Given the description of an element on the screen output the (x, y) to click on. 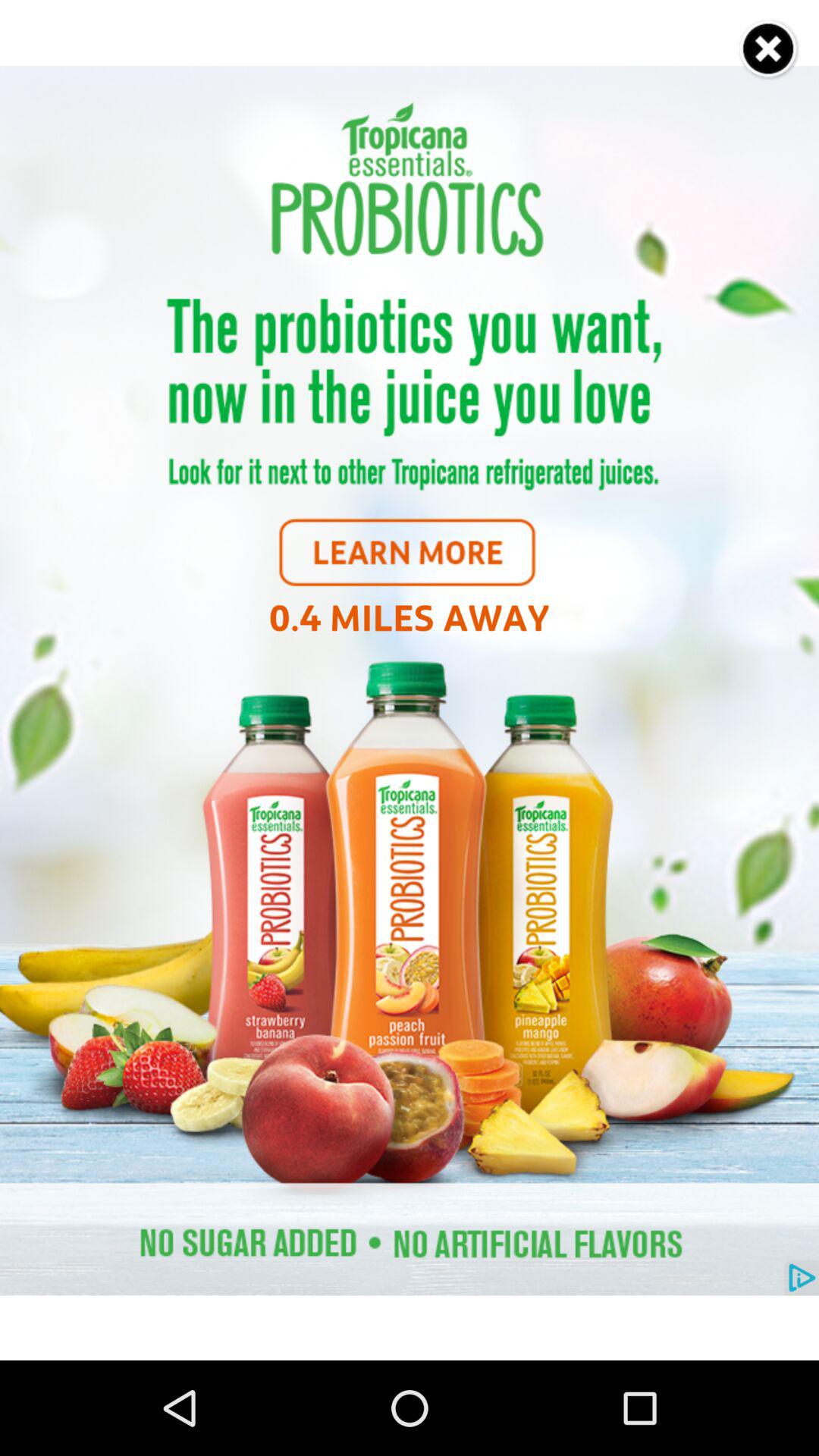
go to close (769, 49)
